Given the description of an element on the screen output the (x, y) to click on. 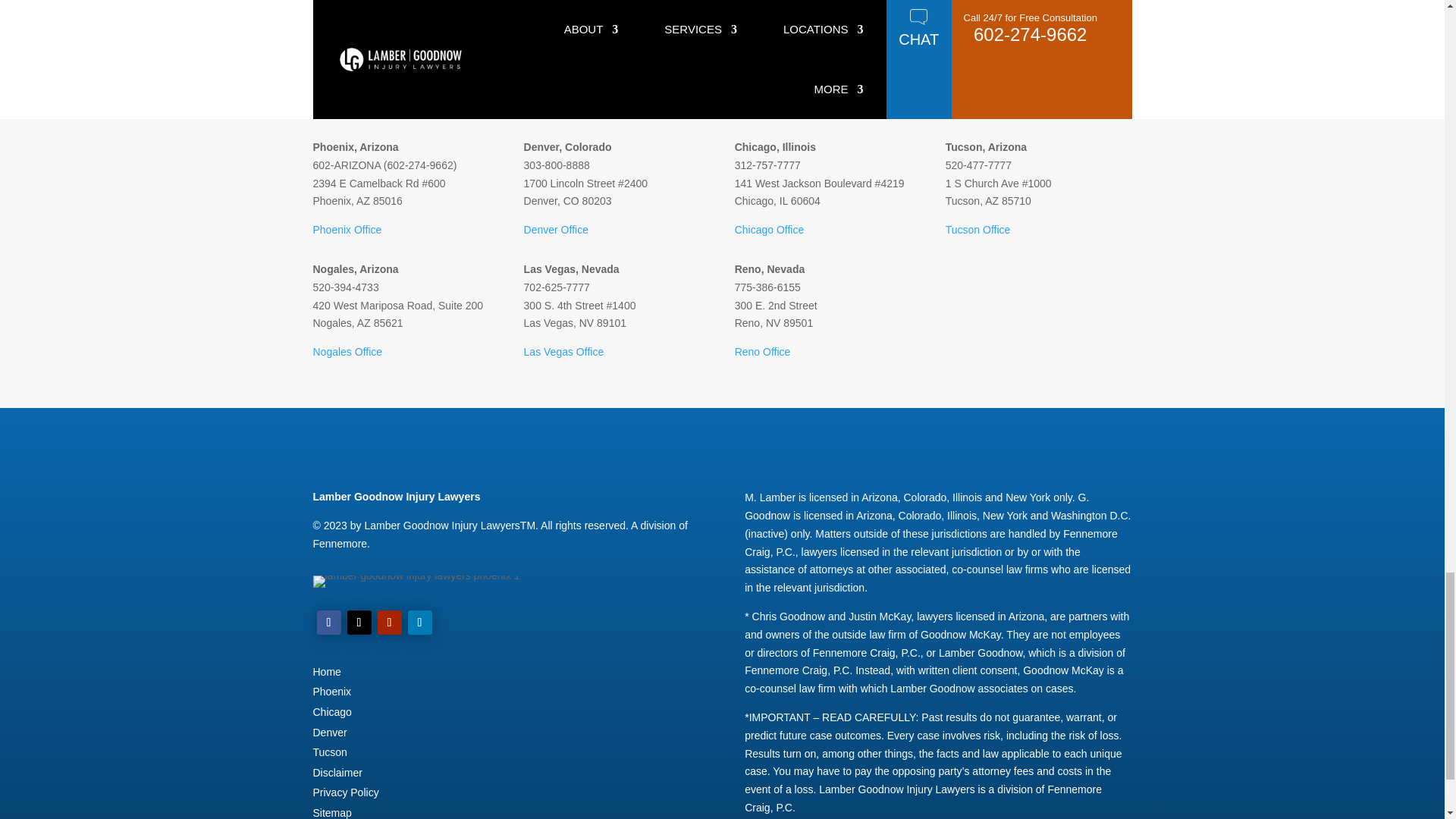
Follow on X (359, 622)
Follow on Facebook (328, 622)
Follow on Youtube (389, 622)
Follow on LinkedIn (419, 622)
